Given the description of an element on the screen output the (x, y) to click on. 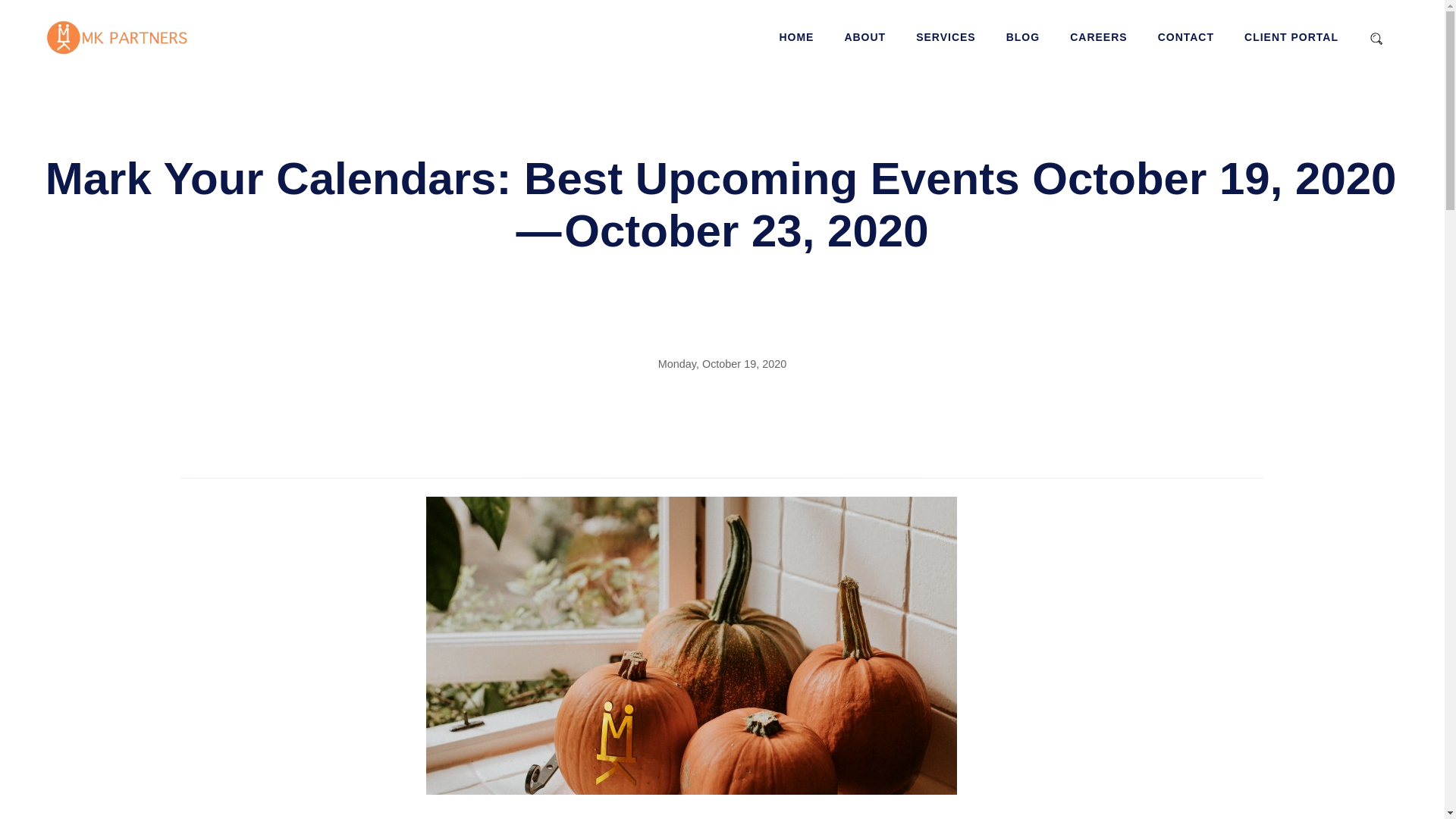
BLOG (1022, 37)
HOME (795, 37)
CLIENT PORTAL (1291, 37)
CONTACT (1185, 37)
CAREERS (1098, 37)
ABOUT (864, 37)
SERVICES (945, 37)
